Given the description of an element on the screen output the (x, y) to click on. 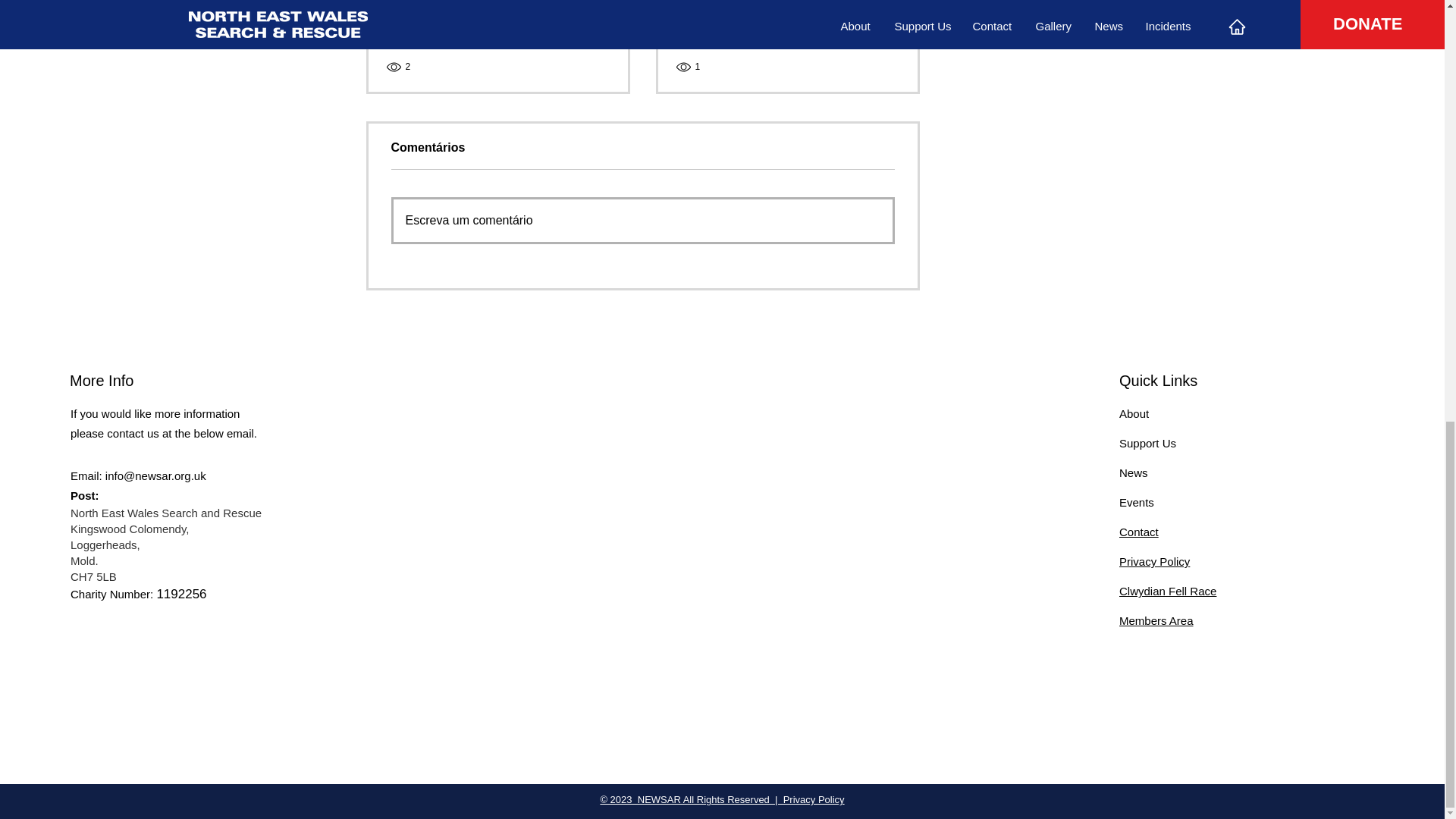
News (1133, 472)
About (1133, 413)
Members Area (1156, 620)
Contact (1138, 531)
Clwydian Fell Race (1167, 590)
CALLOUT: Injured walker near Nannerch (788, 14)
Support Us (1147, 442)
Privacy Policy (1154, 561)
Events (1136, 502)
